Given the description of an element on the screen output the (x, y) to click on. 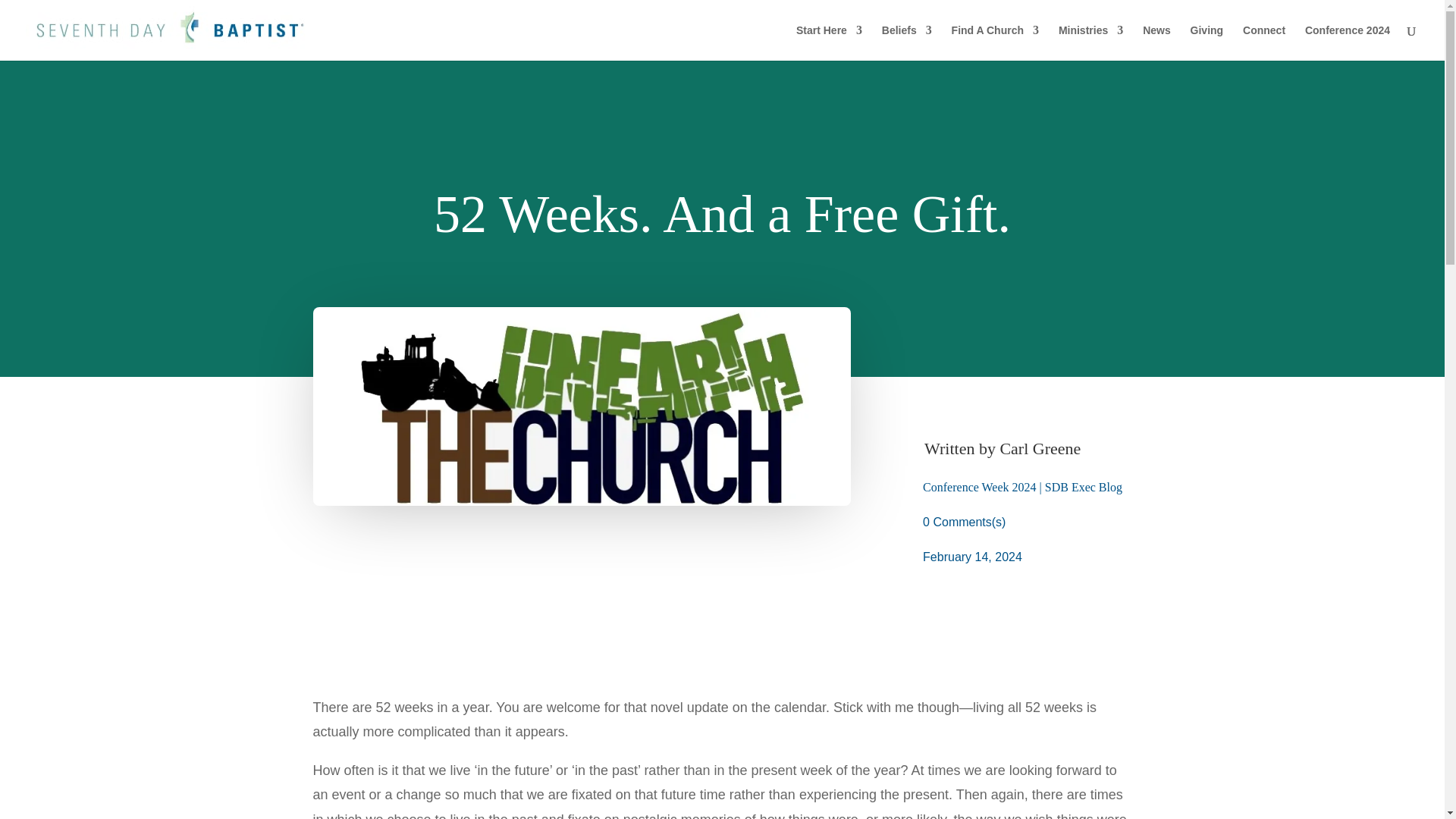
Beliefs (906, 42)
Start Here (828, 42)
Conference 2024 (1347, 42)
Find A Church (995, 42)
Ministries (1090, 42)
5E557FEB-2DA9-4ED7-9BA5-182A4BB90632 (581, 406)
Connect (1264, 42)
Giving (1207, 42)
